Given the description of an element on the screen output the (x, y) to click on. 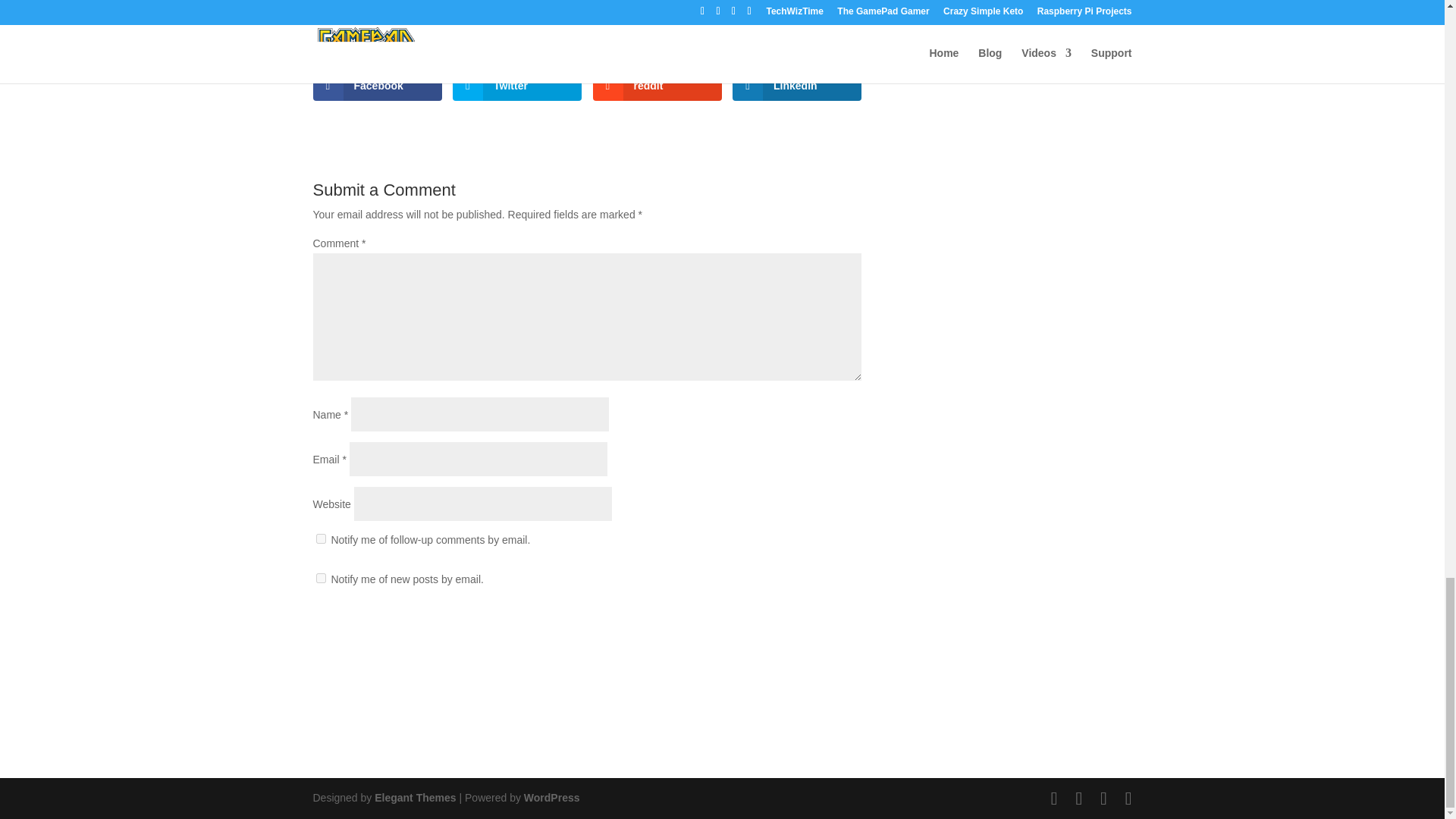
Twitter (516, 85)
Submit Comment (786, 628)
Facebook (377, 85)
Submit Comment (786, 628)
subscribe (319, 538)
Premium WordPress Themes (414, 797)
reddit (657, 85)
subscribe (319, 578)
LinkedIn (796, 85)
